Given the description of an element on the screen output the (x, y) to click on. 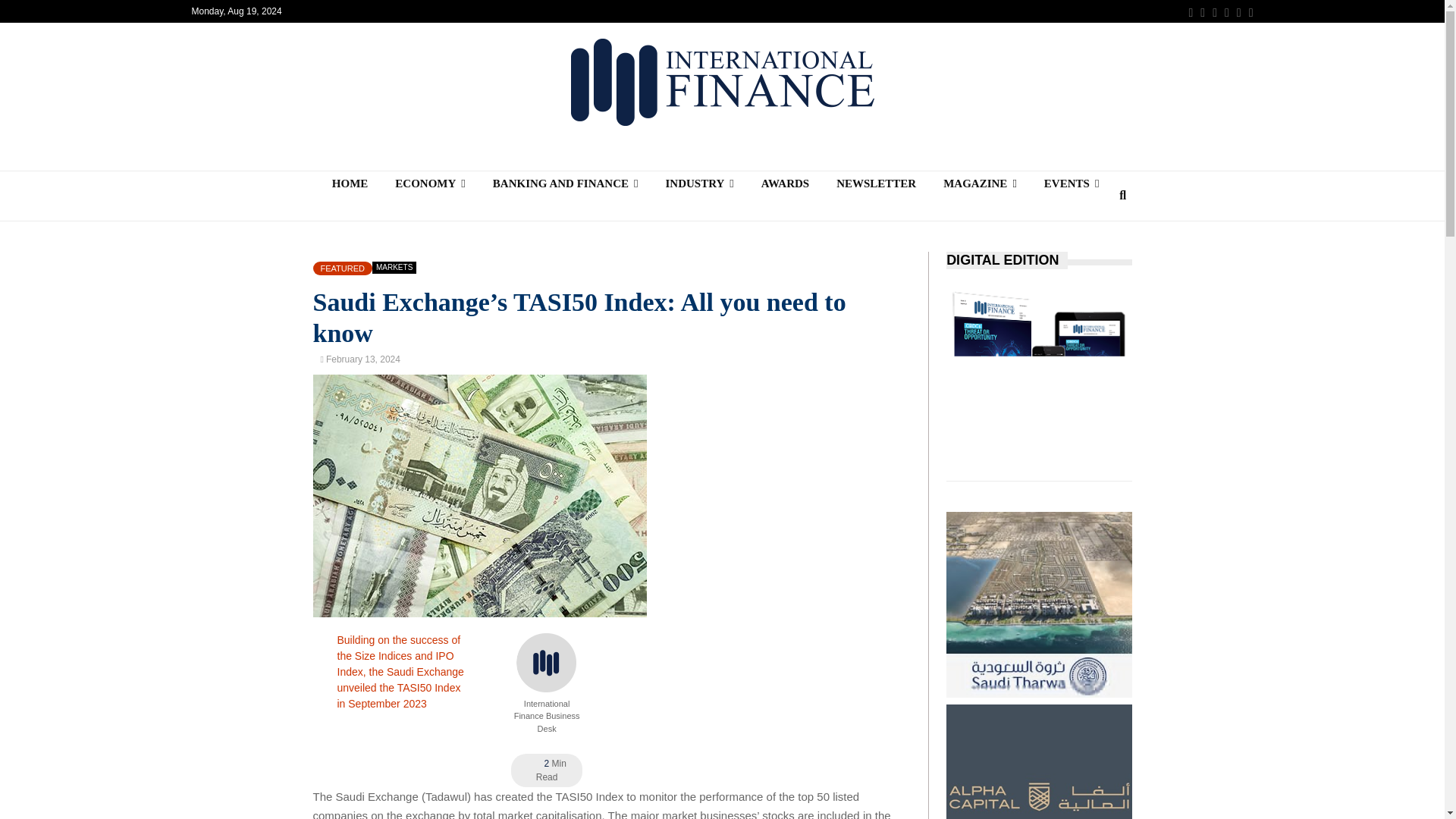
MAGAZINE (980, 183)
BANKING AND FINANCE (565, 183)
INDUSTRY (698, 183)
AWARDS (785, 183)
ECONOMY (430, 183)
NEWSLETTER (876, 183)
HOME (349, 183)
